Given the description of an element on the screen output the (x, y) to click on. 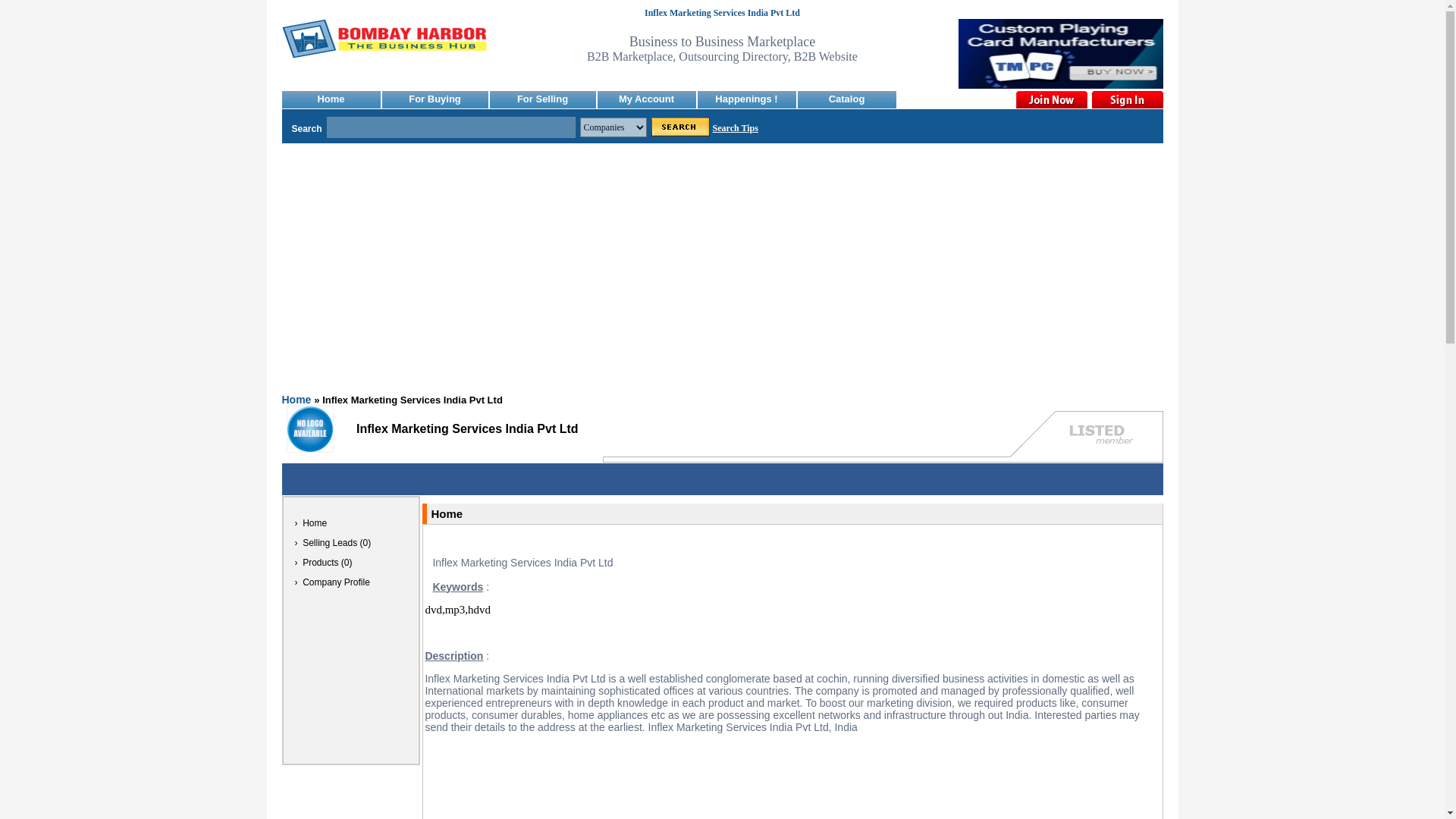
Search (680, 126)
Advertisement (351, 791)
Catalog (846, 100)
Home (331, 100)
Catalog (846, 100)
For Buying (434, 100)
Search Tips (735, 127)
For Selling (542, 100)
Home (331, 100)
Happenings ! (746, 100)
Join Now (1050, 99)
For Selling (542, 100)
Home (296, 394)
My Account (645, 100)
